Given the description of an element on the screen output the (x, y) to click on. 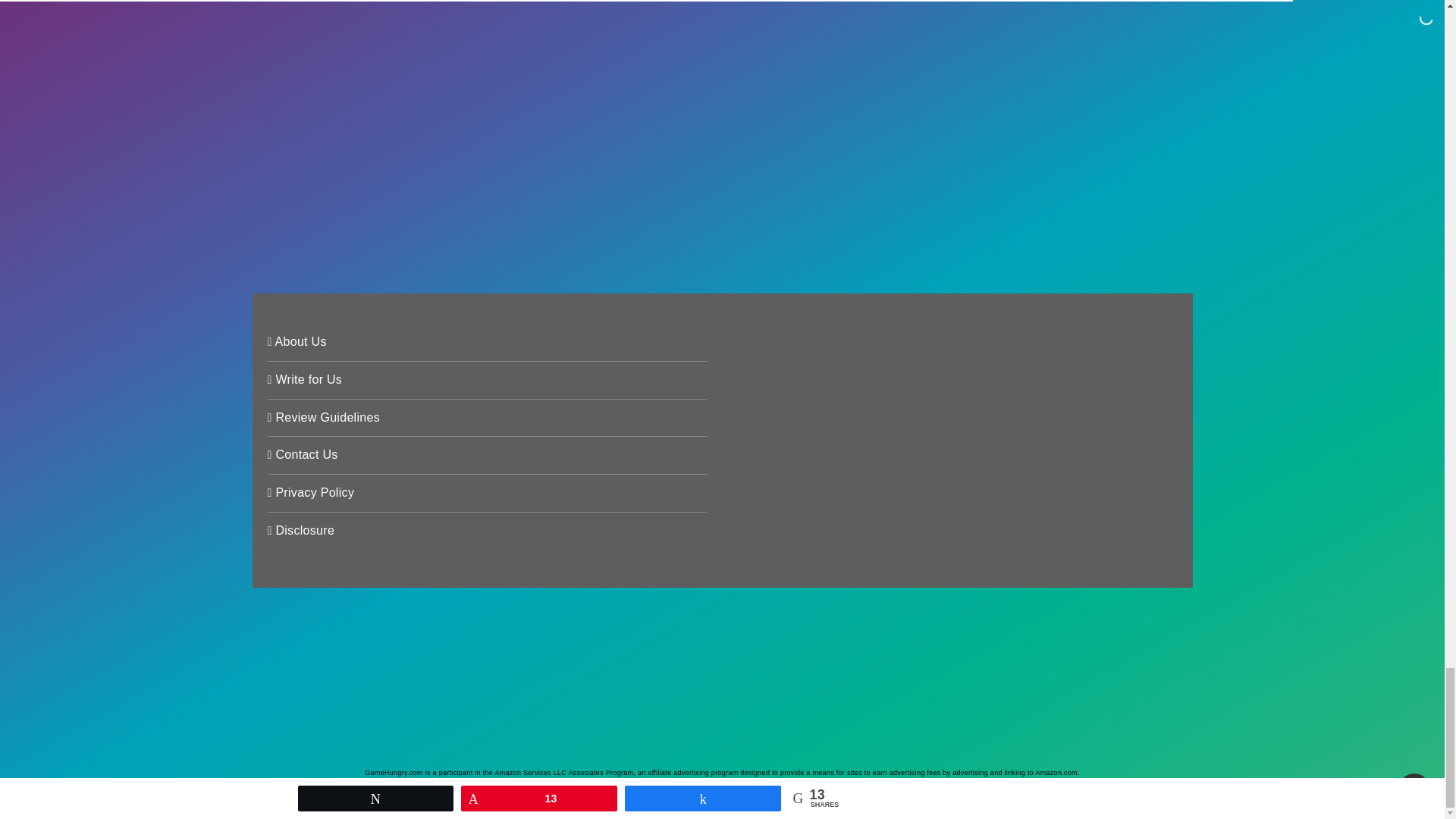
Contact Us (301, 456)
Post Comment (371, 196)
Review Guidelines (323, 419)
Write for Us (304, 381)
About Us (296, 343)
Privacy Policy (309, 494)
Disclosure (300, 532)
